Given the description of an element on the screen output the (x, y) to click on. 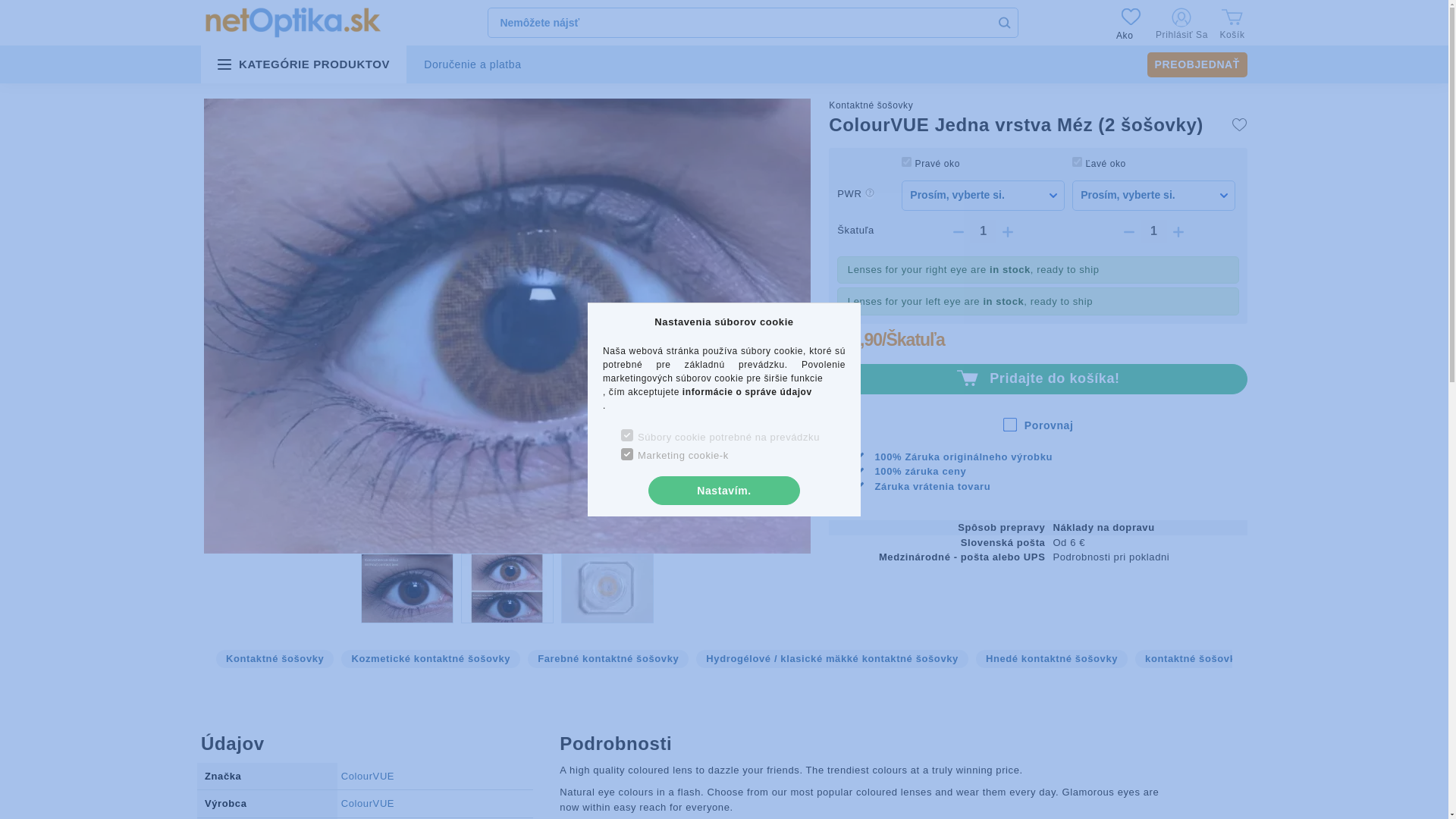
1 (982, 231)
left (1076, 162)
right (906, 162)
1 (1153, 231)
